Given the description of an element on the screen output the (x, y) to click on. 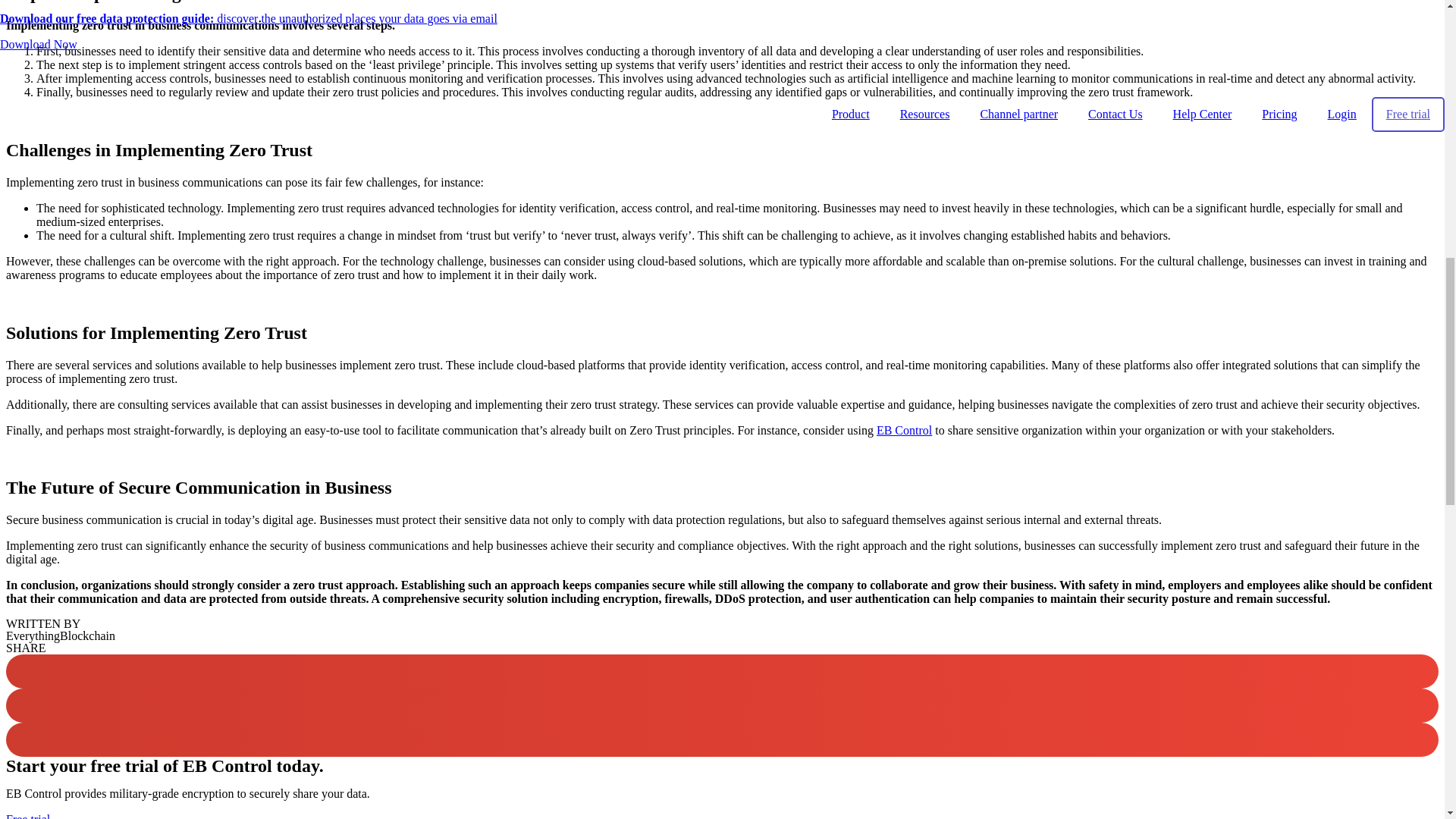
Free trial (27, 816)
EB Control (903, 429)
